Given the description of an element on the screen output the (x, y) to click on. 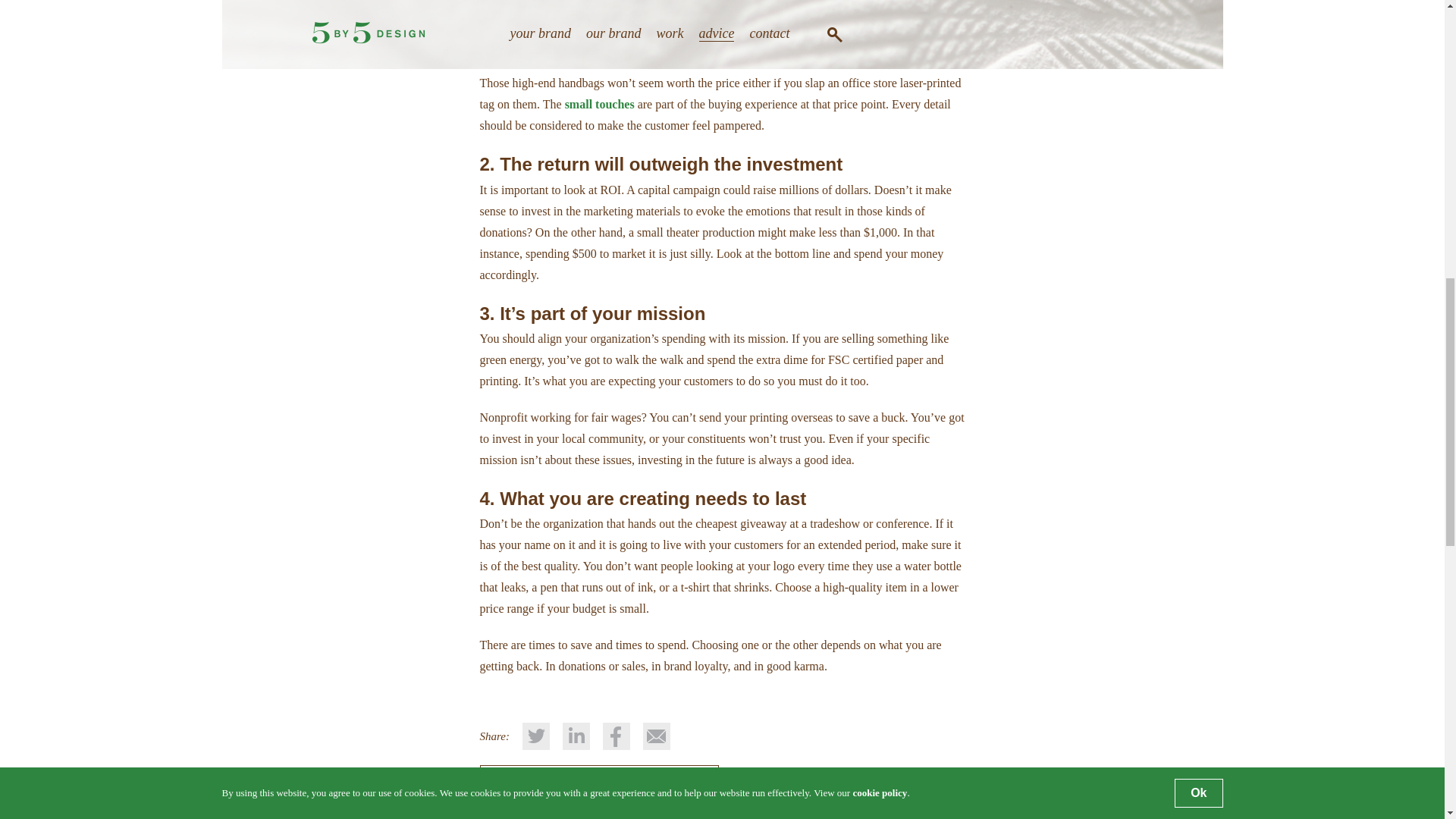
Did this spark an idea? Let's talk! (599, 779)
small touches (599, 103)
